Given the description of an element on the screen output the (x, y) to click on. 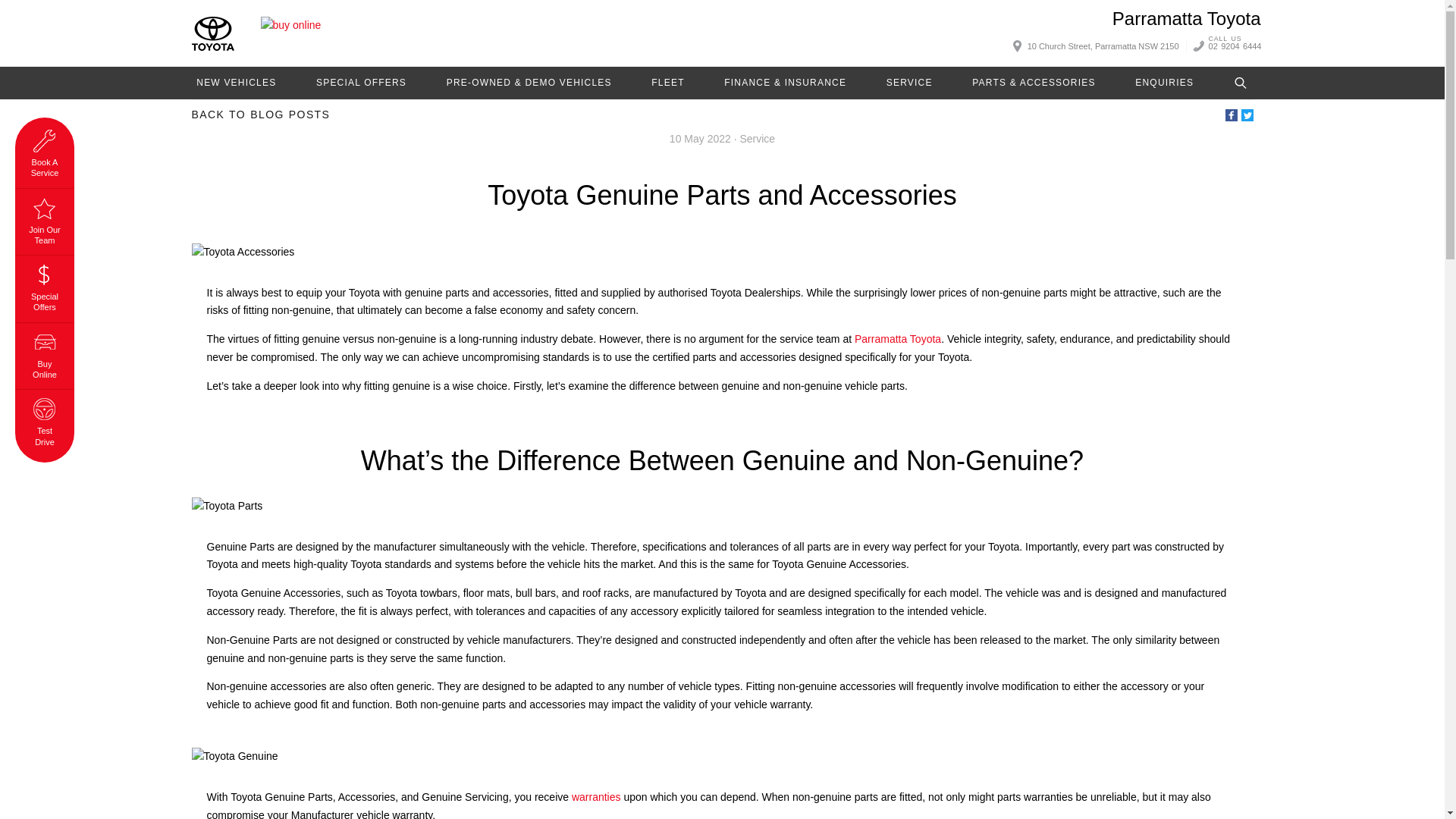
Parramatta Toyota (1186, 18)
Parramatta Toyota (211, 33)
Facebook (1231, 114)
Buy Online (290, 33)
Twitter (1246, 114)
NEW VEHICLES (235, 82)
Parramatta Toyota (1186, 18)
